Given the description of an element on the screen output the (x, y) to click on. 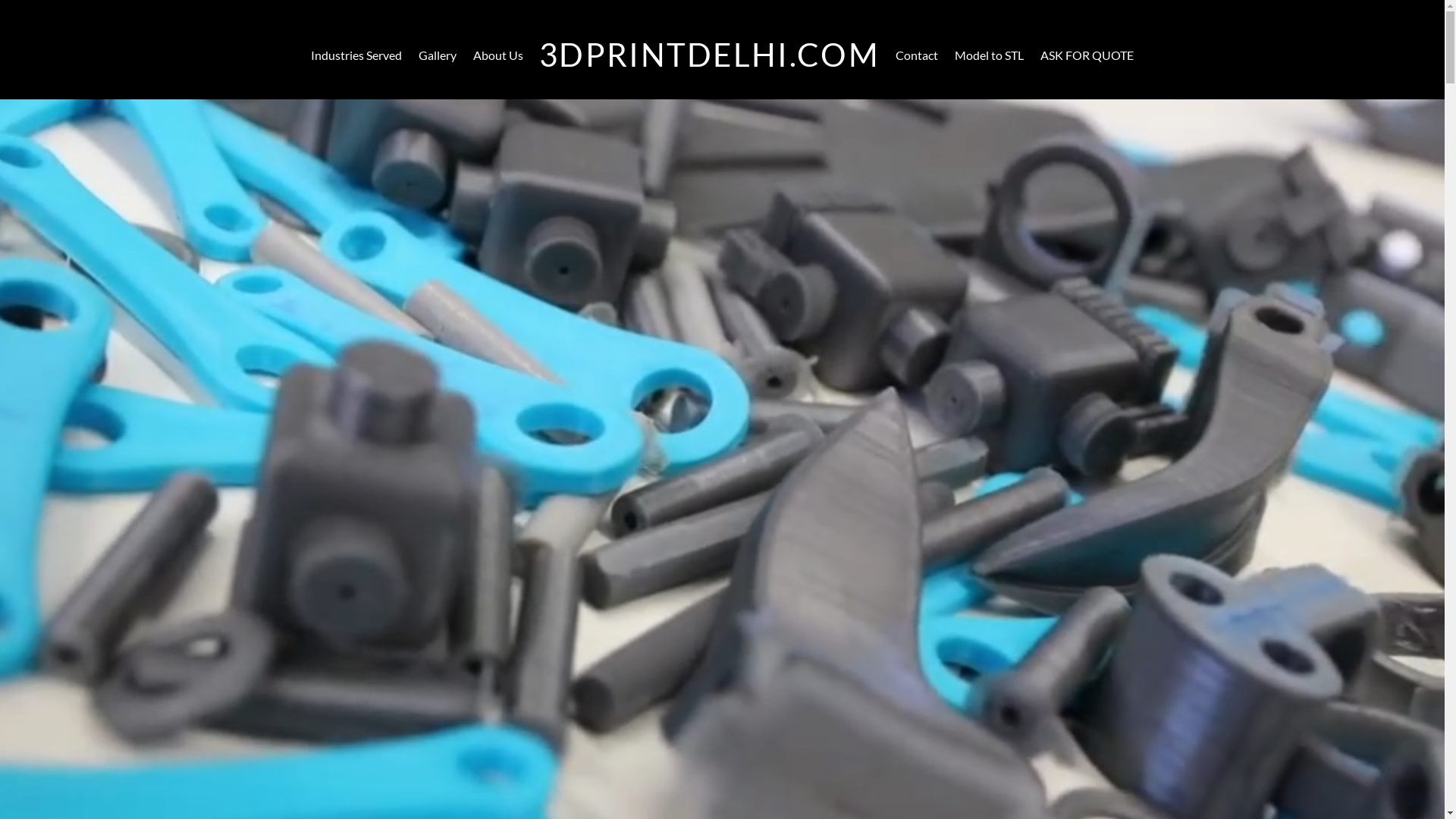
Model to STL Element type: text (988, 55)
About Us Element type: text (498, 55)
3DPRINTDELHI.COM Element type: text (709, 55)
Industries Served Element type: text (355, 55)
Gallery Element type: text (437, 55)
Contact Element type: text (916, 55)
ASK FOR QUOTE Element type: text (1086, 55)
